Given the description of an element on the screen output the (x, y) to click on. 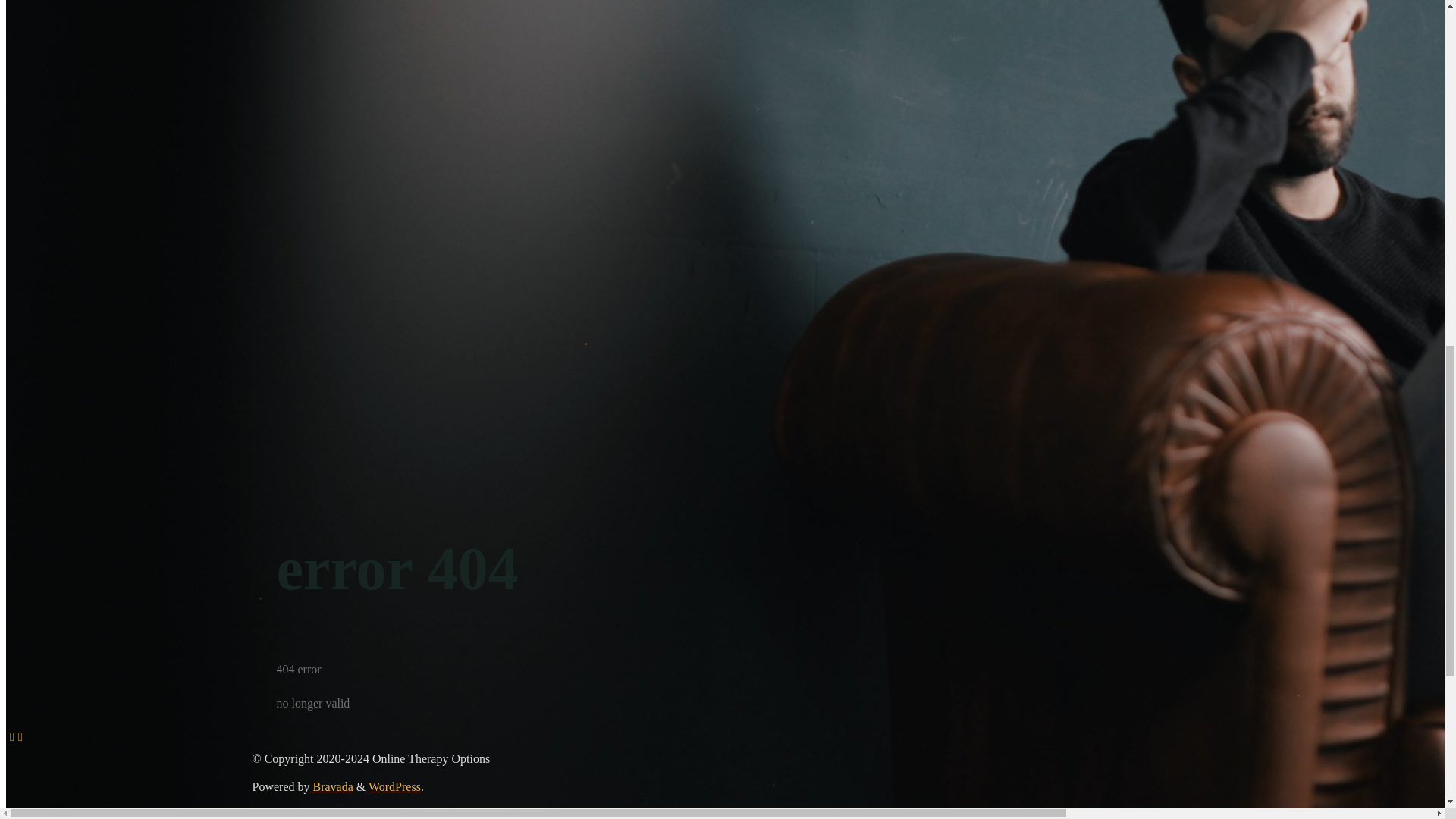
Bravada WordPress Theme by Cryout Creations (330, 786)
Terms of Use (68, 42)
Bravada (330, 786)
Semantic Personal Publishing Platform (394, 786)
Back to Top (14, 736)
WordPress (394, 786)
